Given the description of an element on the screen output the (x, y) to click on. 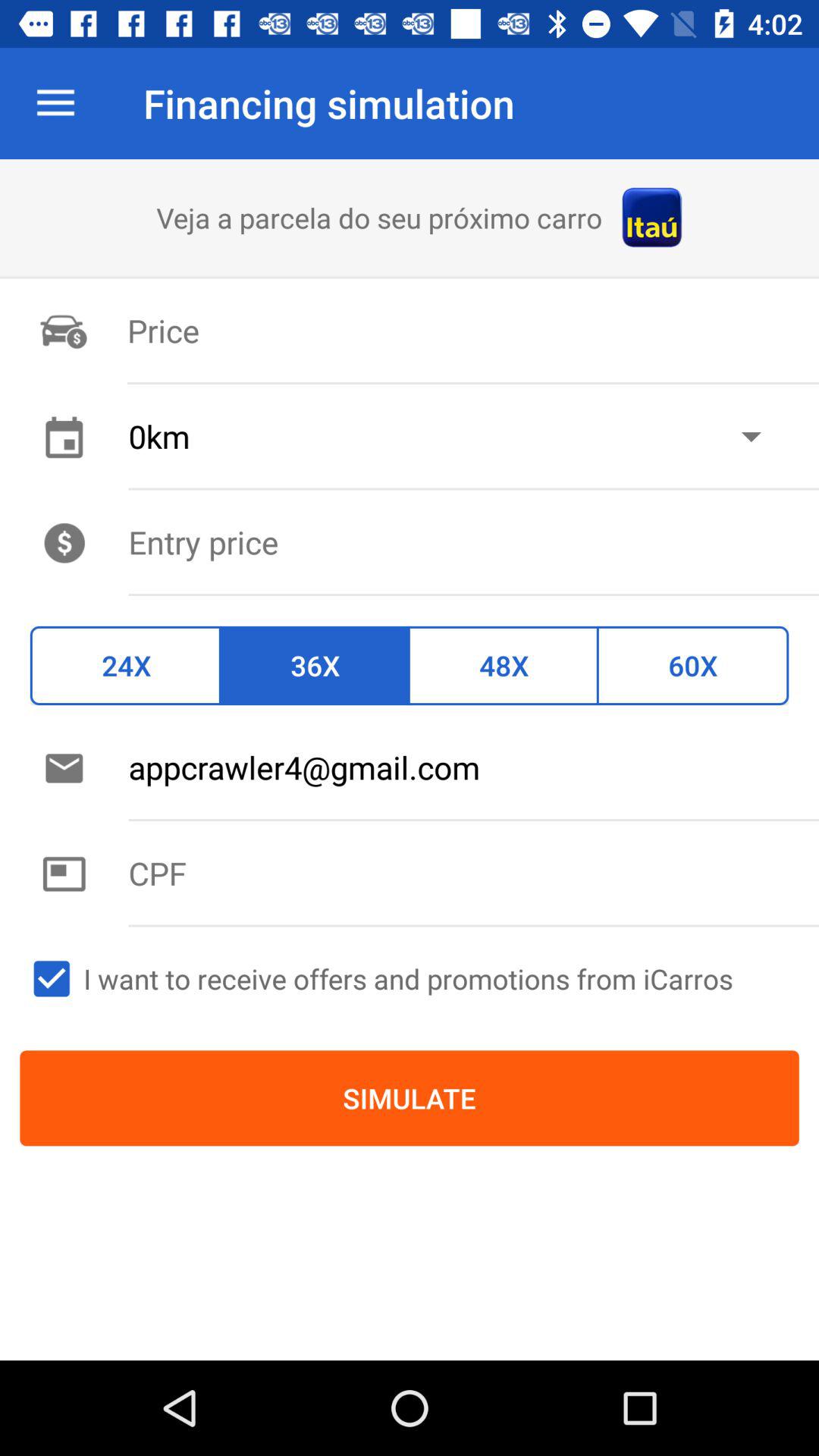
set entry price (473, 541)
